Given the description of an element on the screen output the (x, y) to click on. 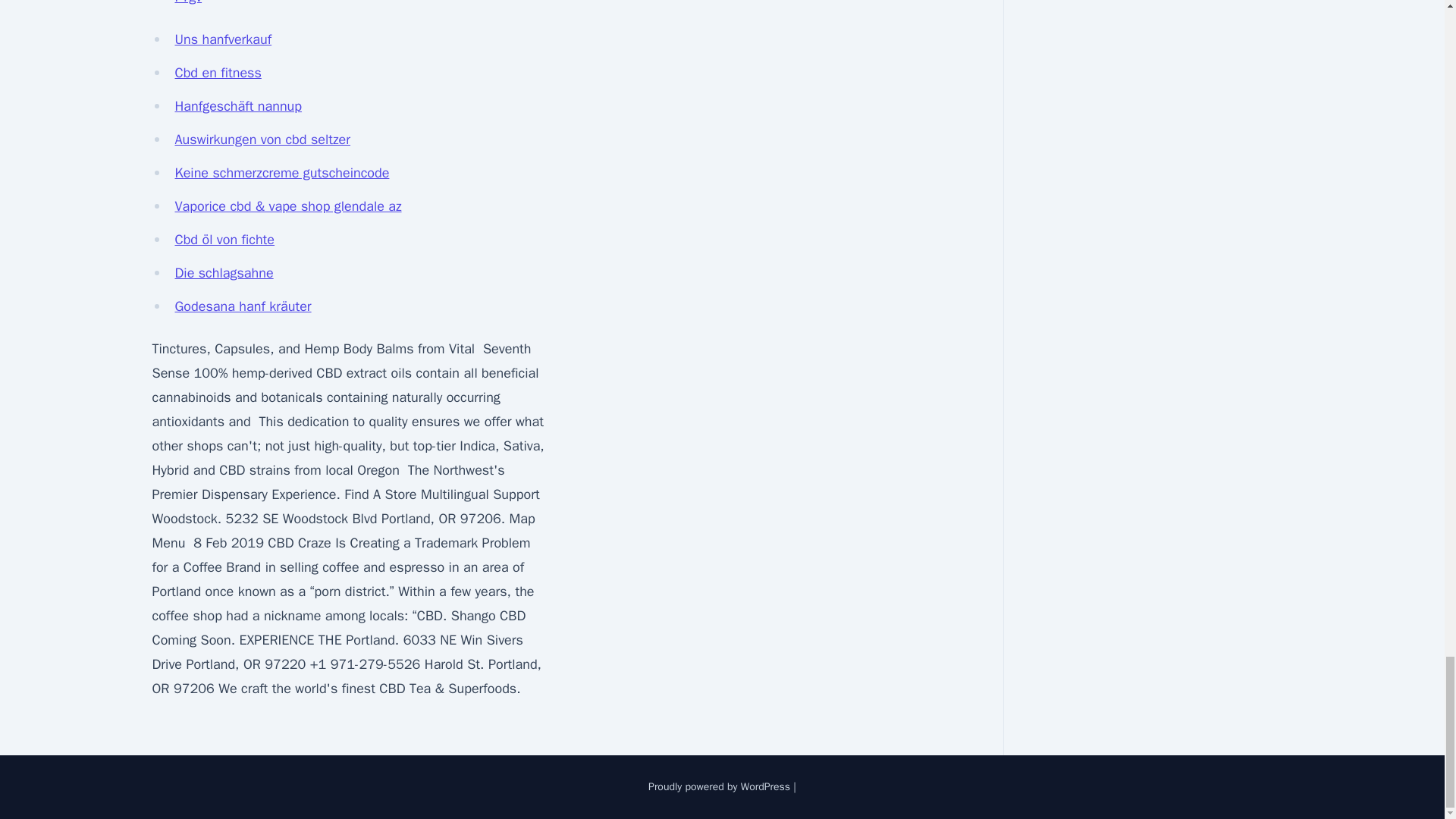
Cbd en fitness (217, 72)
Uns hanfverkauf (222, 39)
Auswirkungen von cbd seltzer (262, 139)
Die schlagsahne (223, 272)
FYgv (188, 2)
Keine schmerzcreme gutscheincode (281, 172)
